Given the description of an element on the screen output the (x, y) to click on. 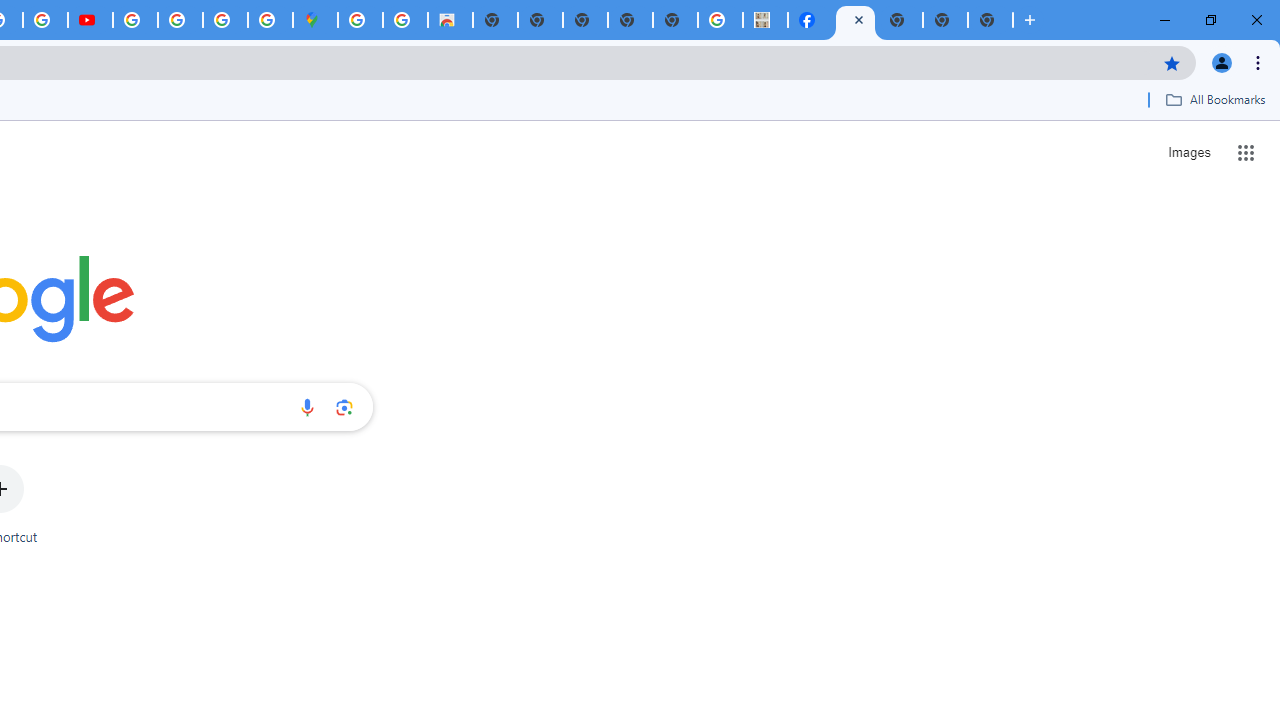
Search by voice (307, 407)
All Bookmarks (1215, 99)
